Given the description of an element on the screen output the (x, y) to click on. 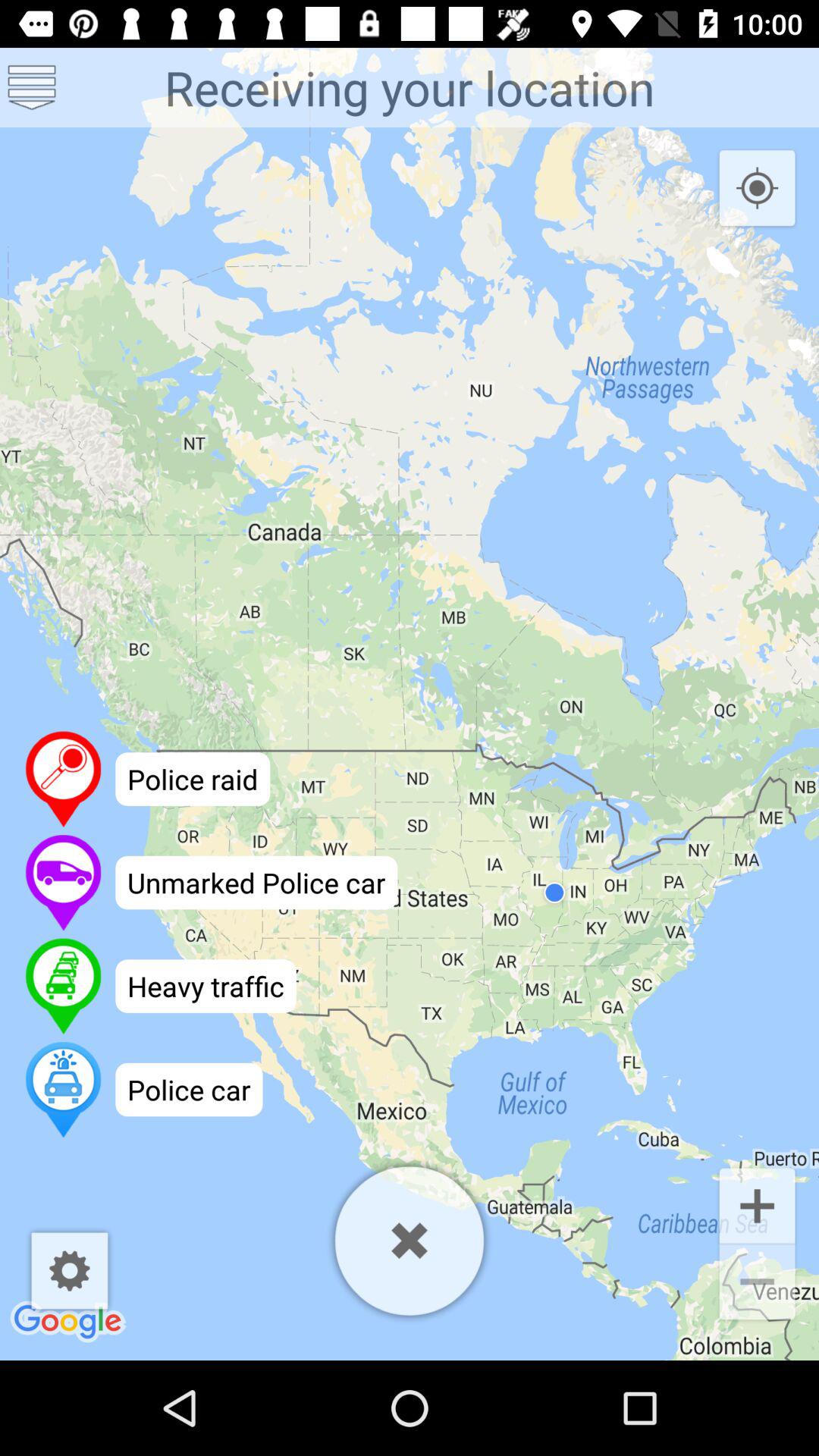
exit (409, 1240)
